Given the description of an element on the screen output the (x, y) to click on. 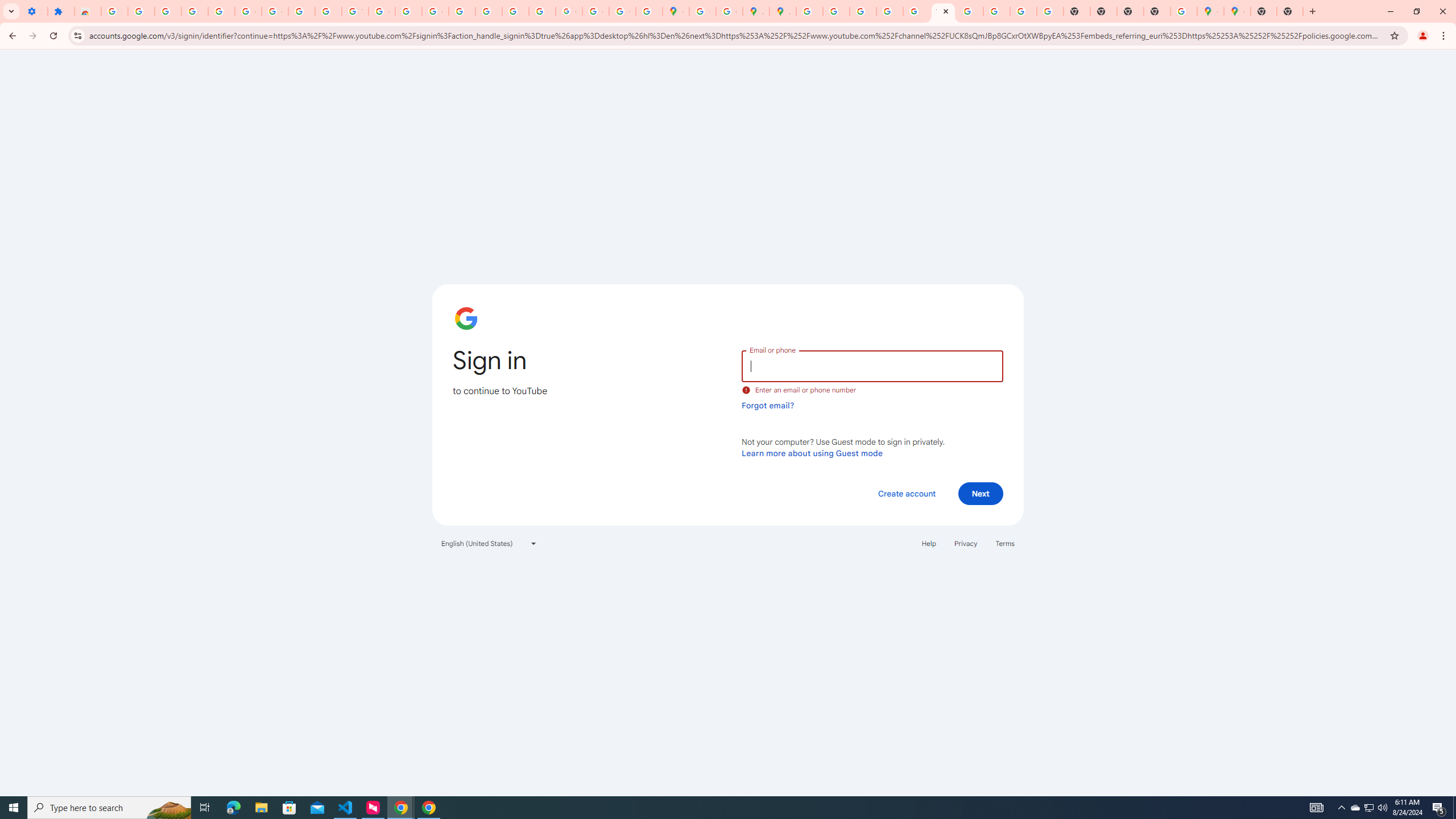
Google Maps (1210, 11)
Forgot email? (767, 404)
Policy Accountability and Transparency - Transparency Center (809, 11)
Sign in - Google Accounts (221, 11)
